Given the description of an element on the screen output the (x, y) to click on. 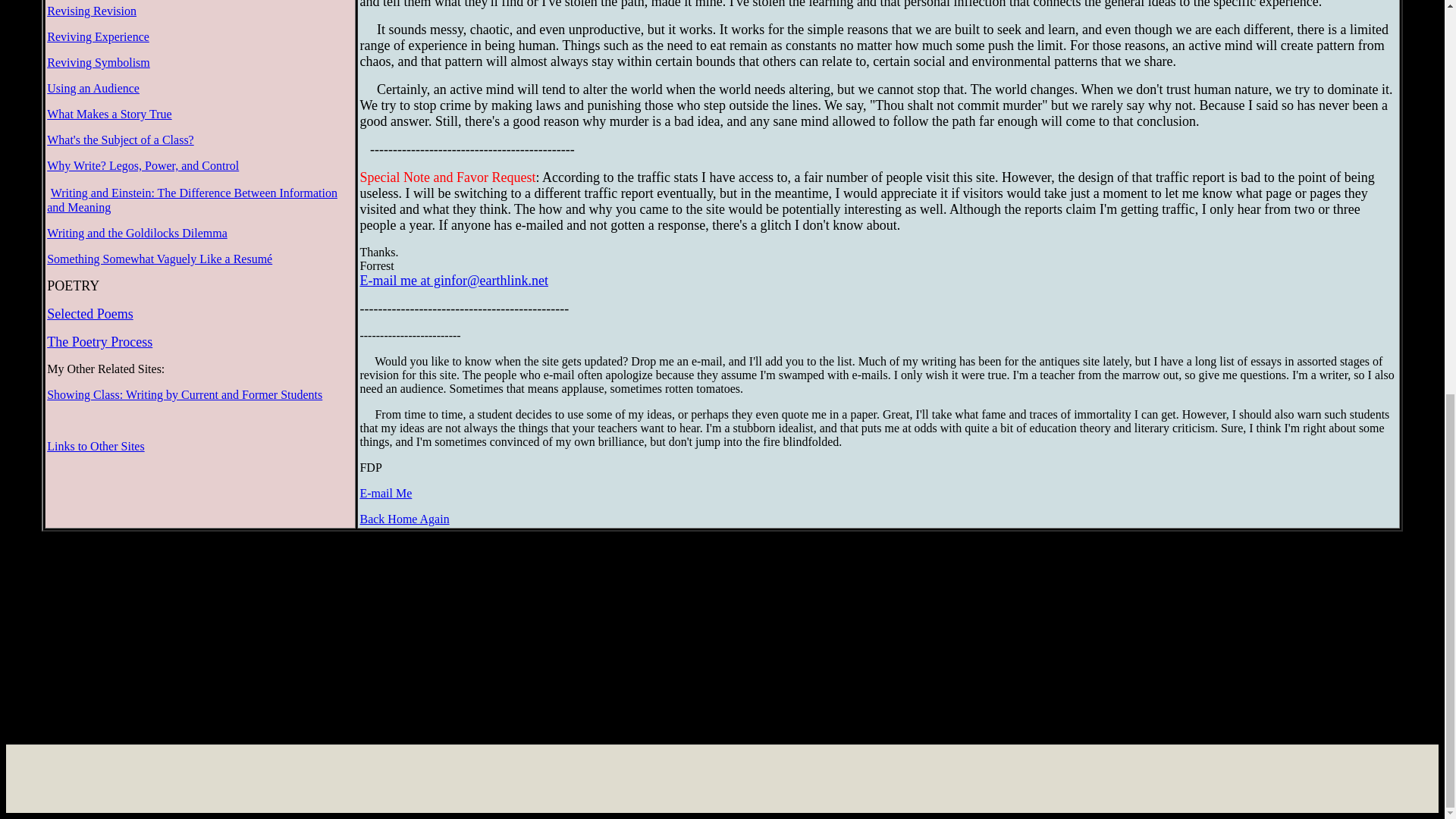
Showing Class: Writing by Current and Former Students (183, 394)
E-mail Me (385, 492)
Selected Poems (89, 314)
Using an Audience (92, 88)
The Poetry Process (99, 341)
Links to Other Sites (95, 445)
What Makes a Story True (108, 113)
Why Write? Legos, Power, and Control (142, 164)
Revising Revision (91, 10)
Back Home Again (403, 518)
Reviving Experience (97, 36)
Writing and the Goldilocks Dilemma (136, 232)
Reviving Symbolism (97, 62)
What's the Subject of a Class? (119, 139)
